Given the description of an element on the screen output the (x, y) to click on. 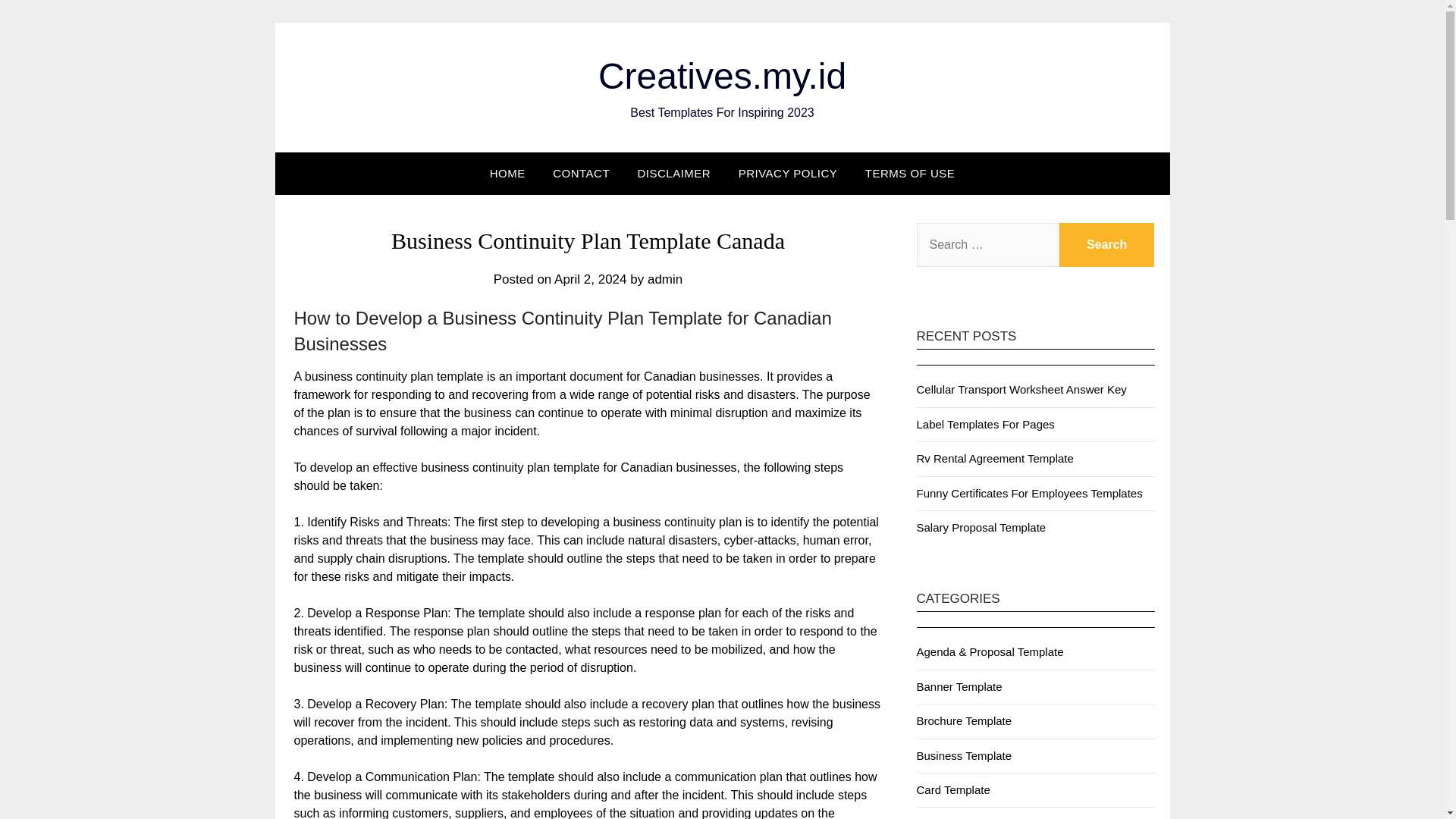
Certificate Template (965, 818)
CONTACT (580, 173)
Rv Rental Agreement Template (994, 458)
admin (664, 278)
Funny Certificates For Employees Templates (1028, 492)
Search (1106, 244)
Business Template (963, 755)
HOME (507, 173)
Creatives.my.id (721, 76)
Label Templates For Pages (984, 423)
